Given the description of an element on the screen output the (x, y) to click on. 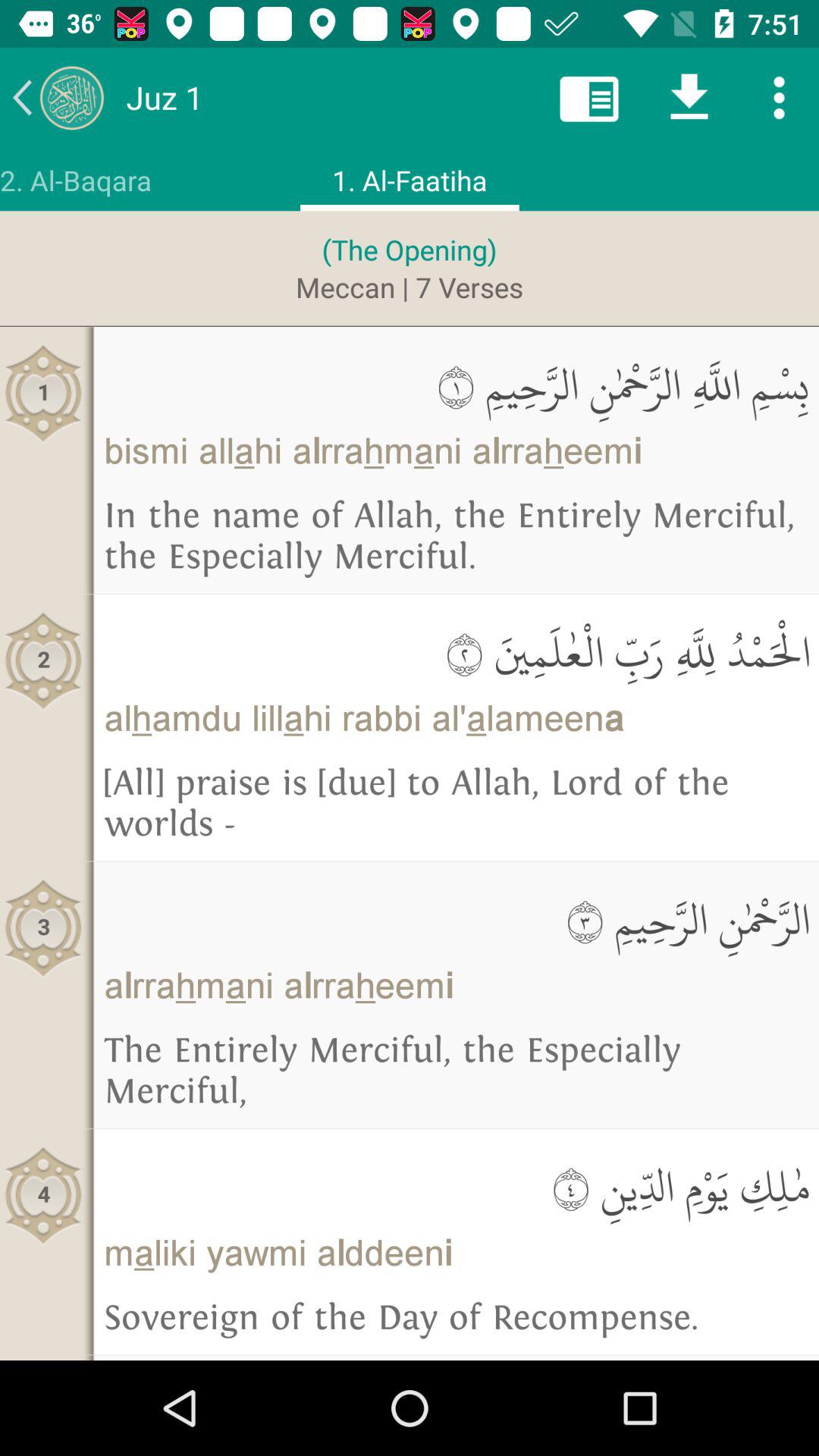
jump until bismi allahi alrrahmani icon (456, 451)
